Given the description of an element on the screen output the (x, y) to click on. 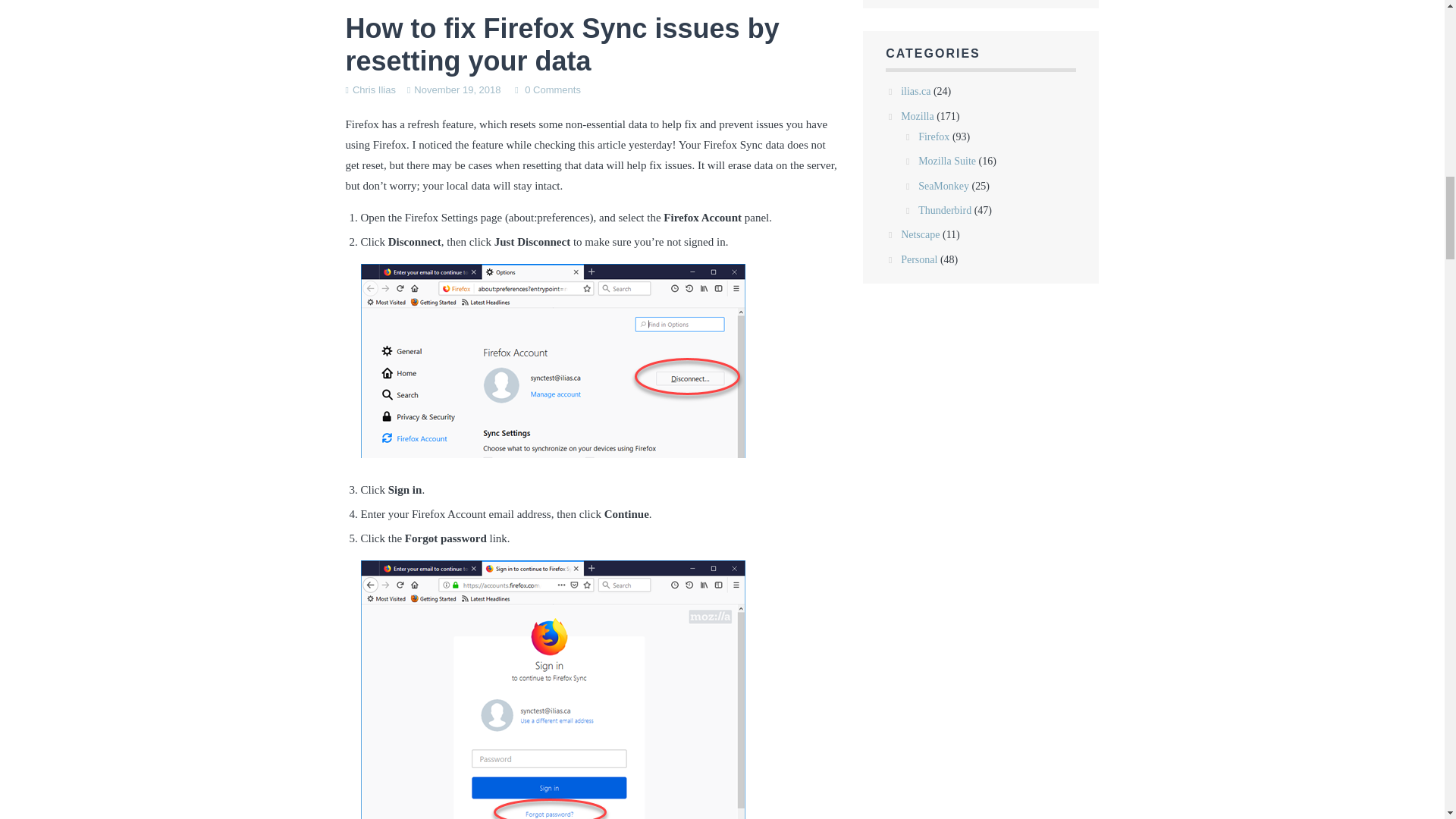
November 19, 2018 (456, 89)
Chris Ilias (374, 89)
0 Comments (552, 89)
How to fix Firefox Sync issues by resetting your data (562, 44)
